Given the description of an element on the screen output the (x, y) to click on. 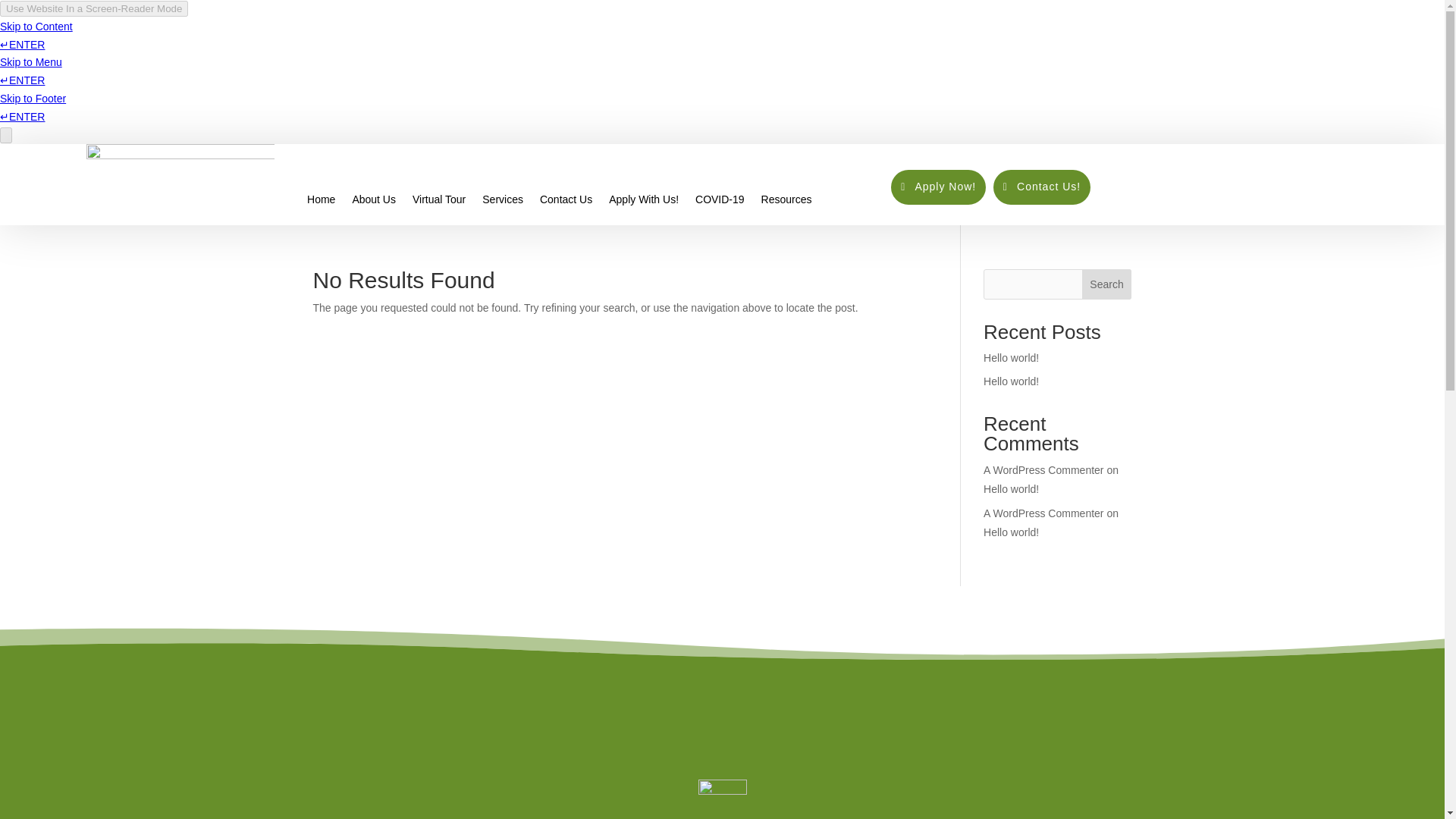
Hello world! (1011, 532)
A WordPress Commenter (1043, 469)
Hello world! (1011, 357)
Apply With Us! (643, 174)
A WordPress Commenter (1043, 512)
Apply Now! (938, 186)
Hello world! (1011, 381)
Hello world! (1011, 489)
Search (1106, 284)
Contact Us! (1041, 186)
